Given the description of an element on the screen output the (x, y) to click on. 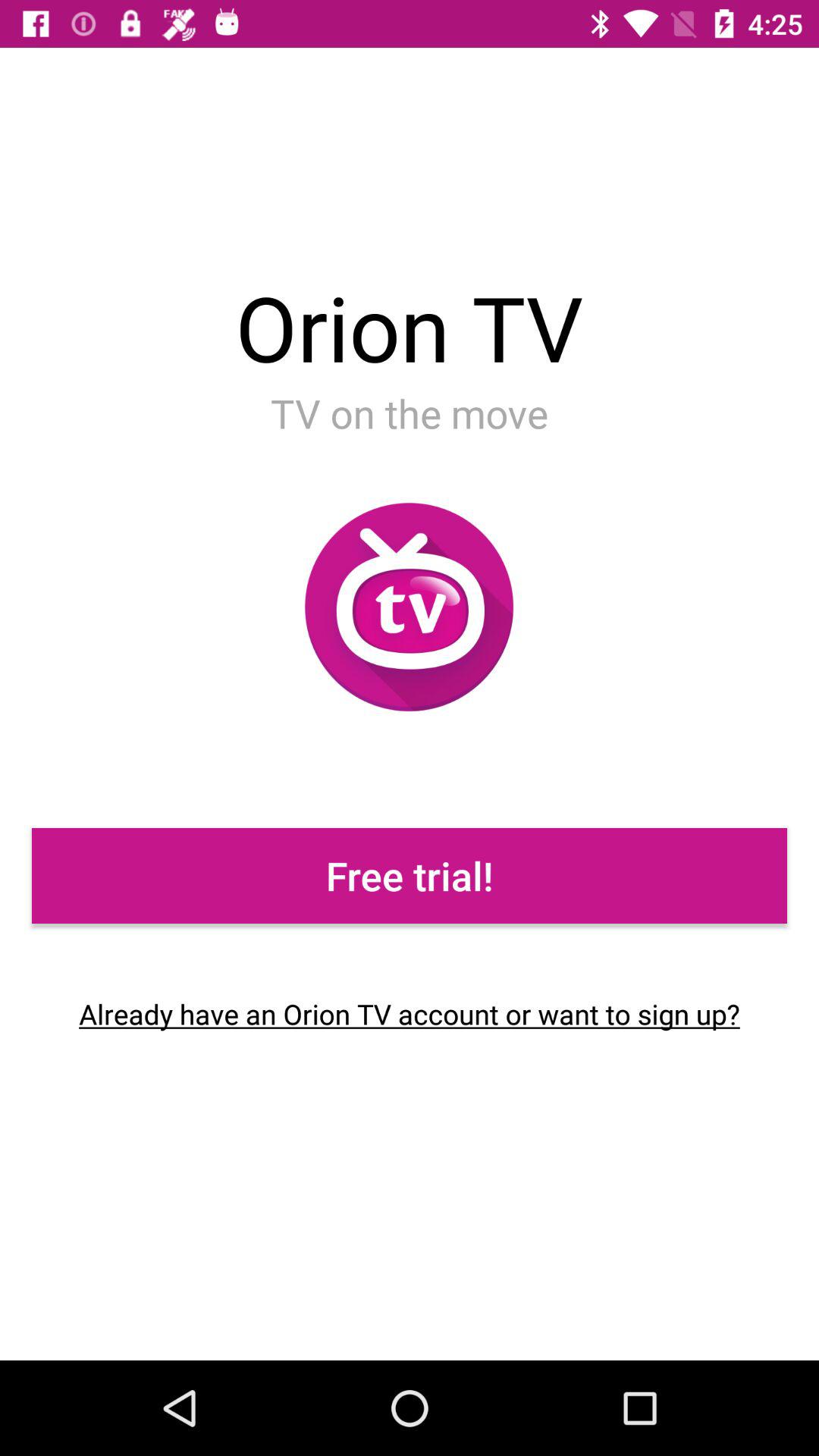
tap the icon above already have an (409, 875)
